Given the description of an element on the screen output the (x, y) to click on. 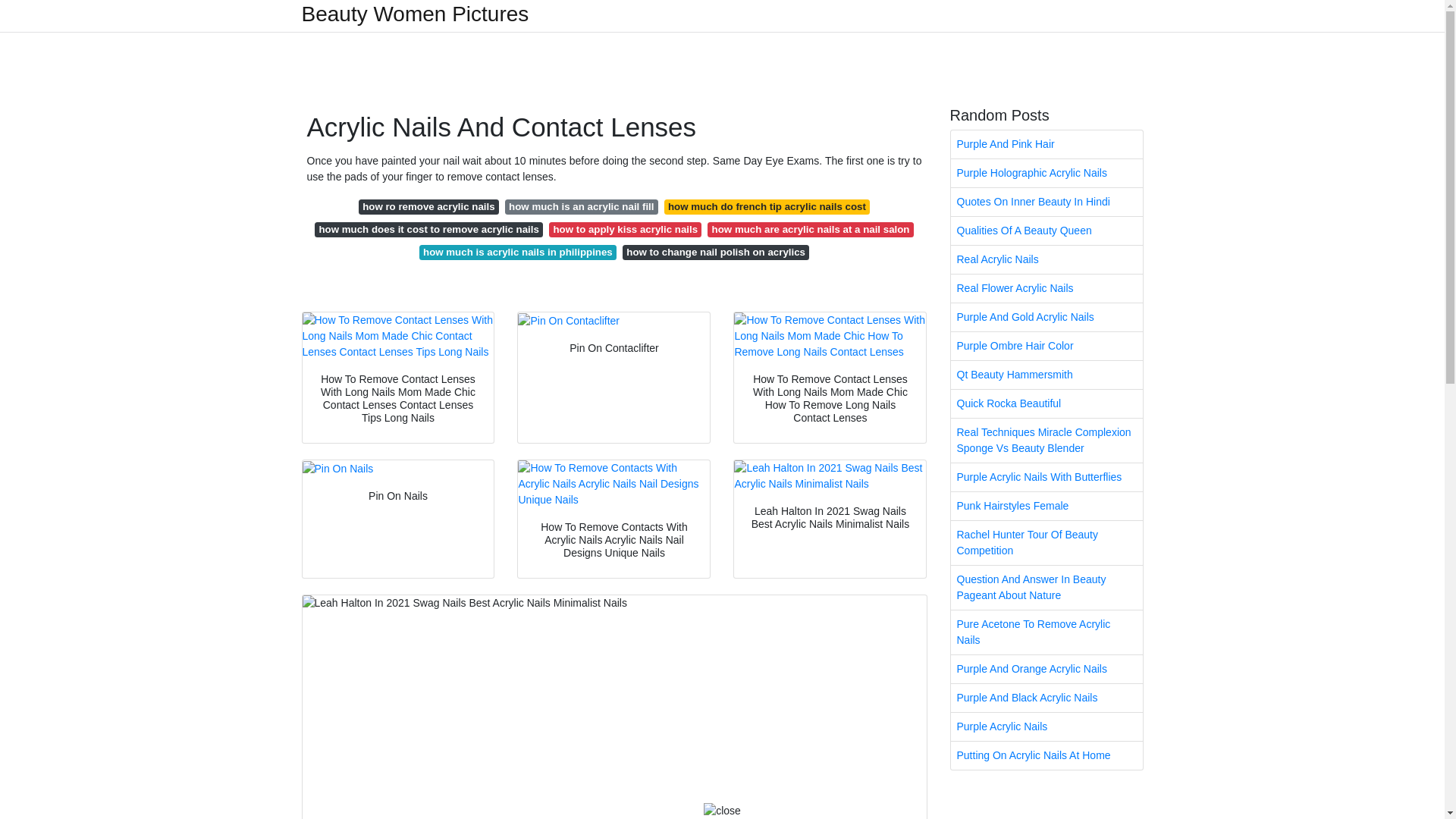
how ro remove acrylic nails (428, 206)
Beauty Women Pictures (415, 13)
how much is acrylic nails in philippines (517, 252)
how much do french tip acrylic nails cost (766, 206)
Purple And Black Acrylic Nails (1046, 697)
Qualities Of A Beauty Queen (1046, 230)
how much does it cost to remove acrylic nails (428, 229)
Purple And Gold Acrylic Nails (1046, 317)
close button (722, 811)
Purple And Pink Hair (1046, 144)
